Given the description of an element on the screen output the (x, y) to click on. 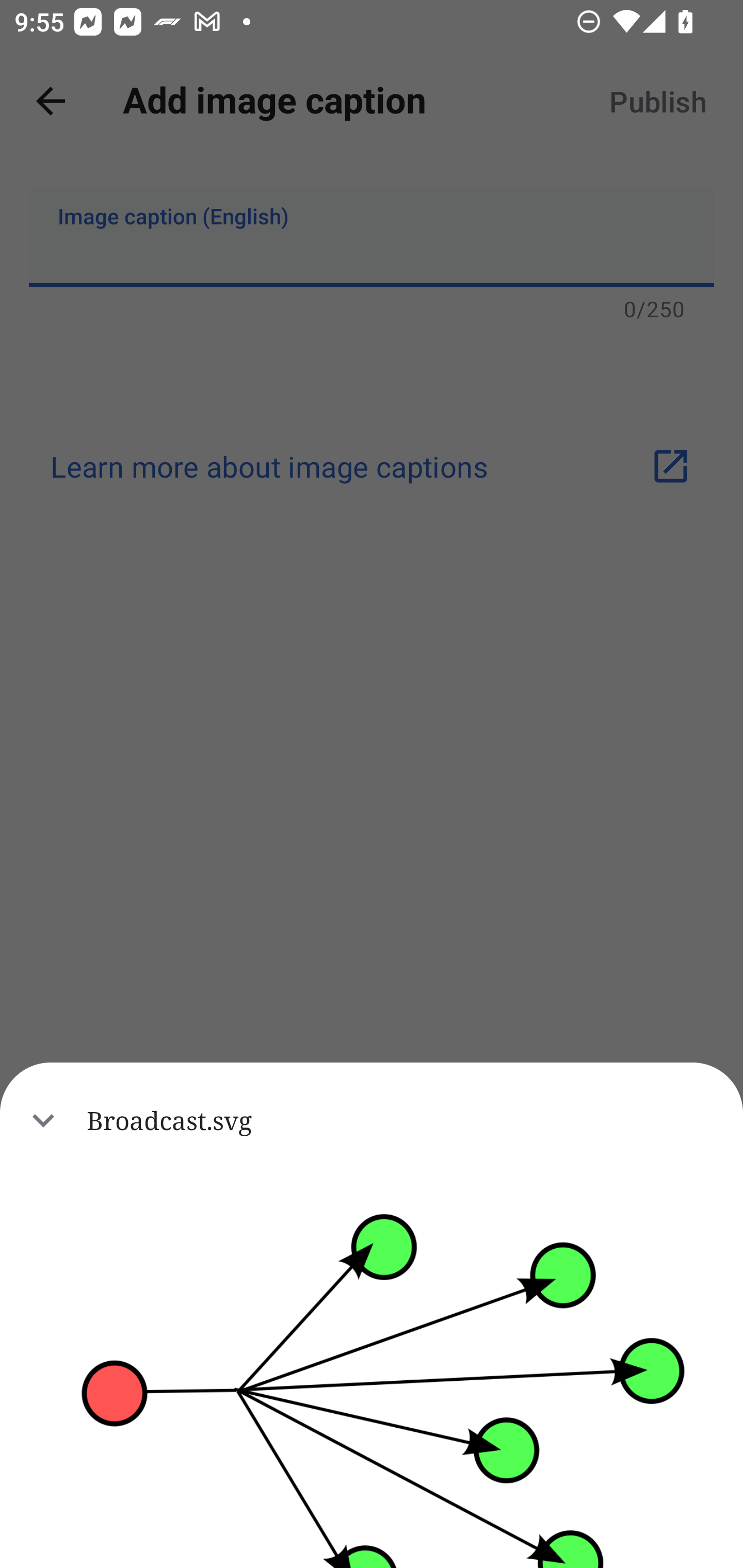
Broadcast.svg (371, 1120)
